Given the description of an element on the screen output the (x, y) to click on. 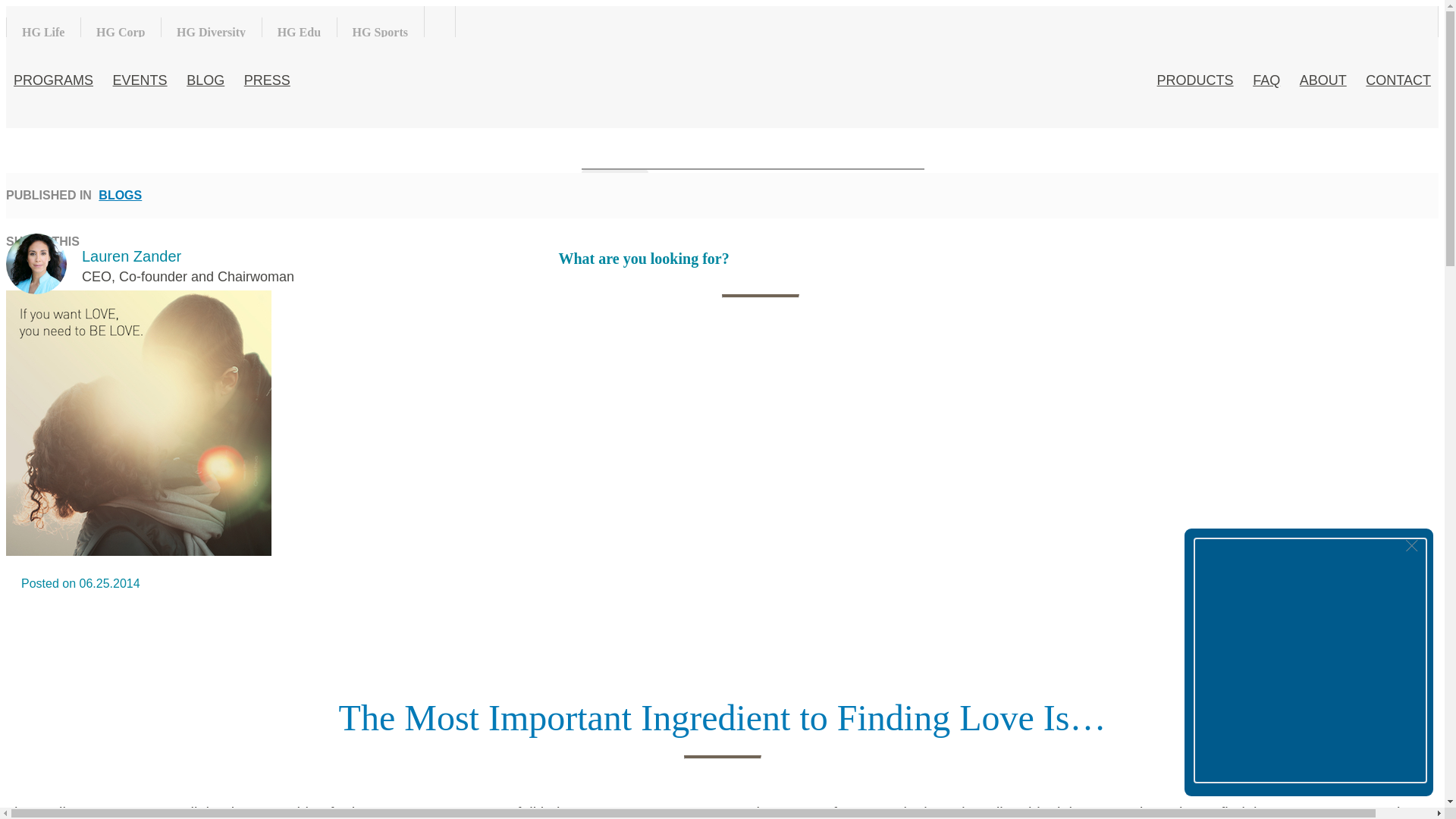
PROGRAMS (53, 79)
FIND (613, 190)
EVENTS (140, 79)
PRODUCTS (1195, 79)
CONTACT (1398, 79)
HG Life (43, 32)
BLOG (205, 79)
HG Corp (120, 32)
HG Edu (299, 32)
HG Sports (380, 32)
PRESS (266, 79)
BLOGS (120, 195)
HG Diversity (210, 32)
ABOUT (1323, 79)
Handel Group (470, 20)
